Given the description of an element on the screen output the (x, y) to click on. 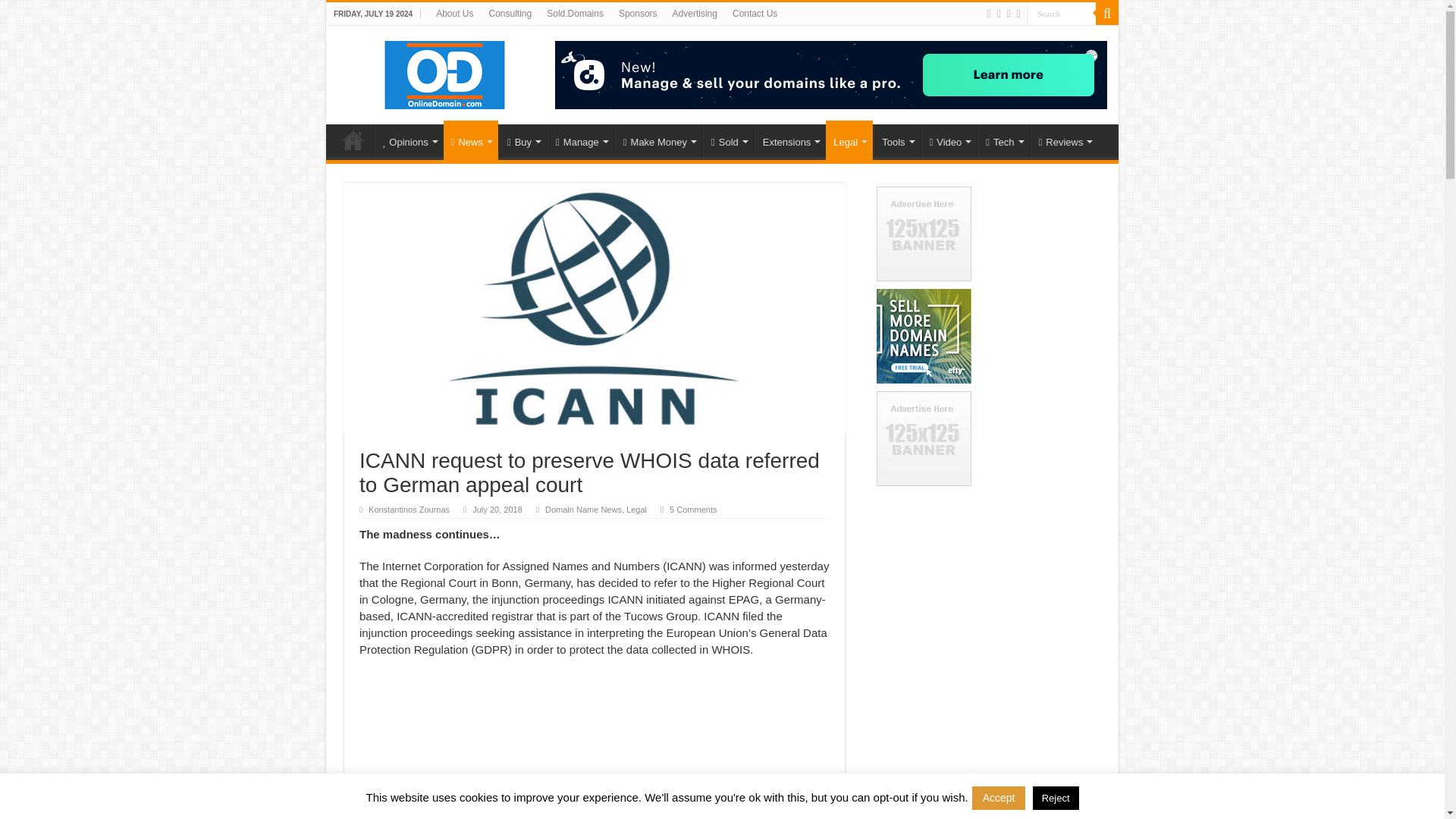
Consulting (509, 13)
Search (1061, 13)
Search (1061, 13)
OnlineDomain.com (445, 72)
Contact Us (754, 13)
Search (1107, 13)
Advertising (695, 13)
Search (1061, 13)
Sponsors (638, 13)
Sold.Domains (574, 13)
About Us (454, 13)
Home (352, 140)
